Given the description of an element on the screen output the (x, y) to click on. 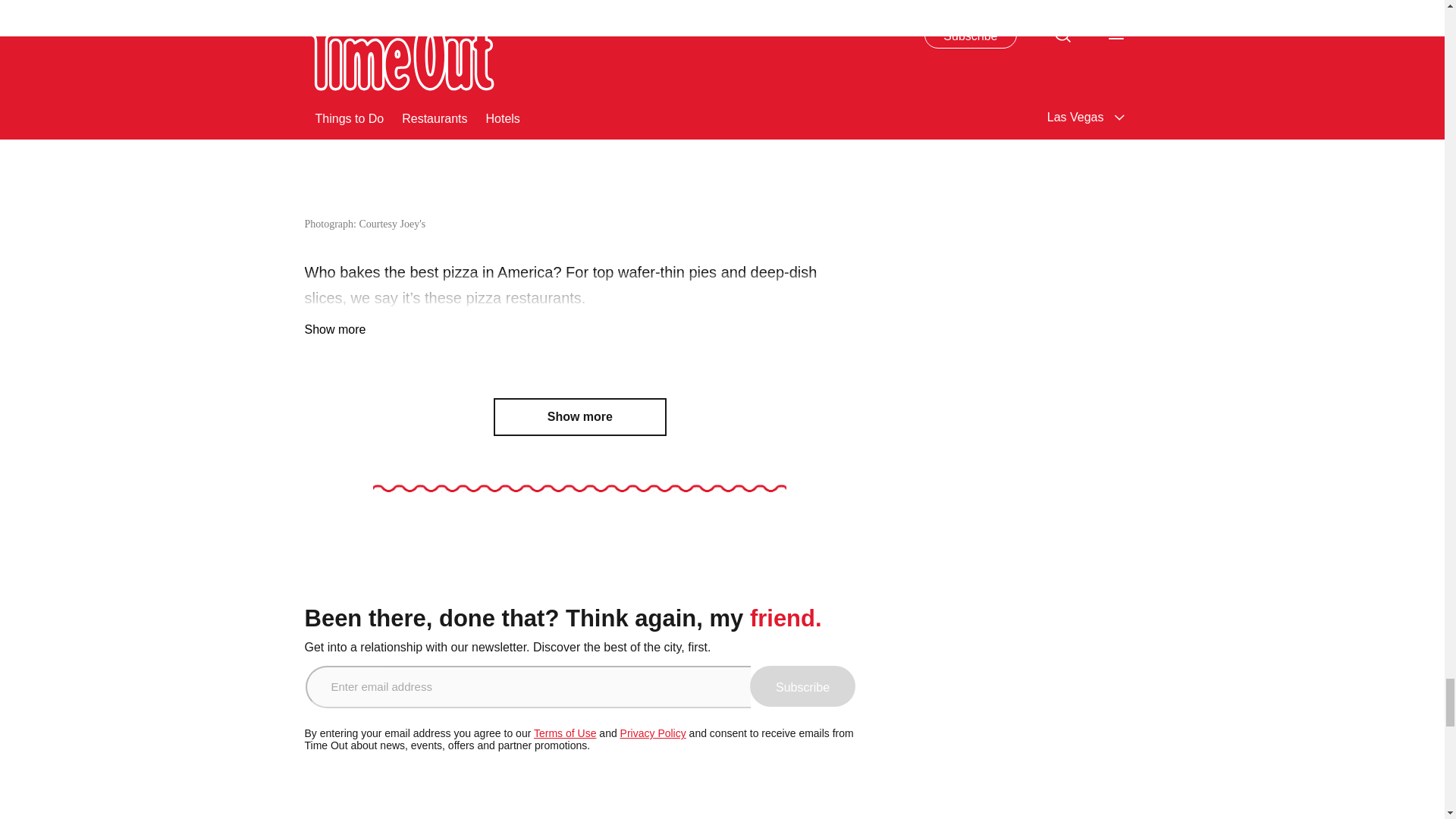
Subscribe (802, 685)
